Given the description of an element on the screen output the (x, y) to click on. 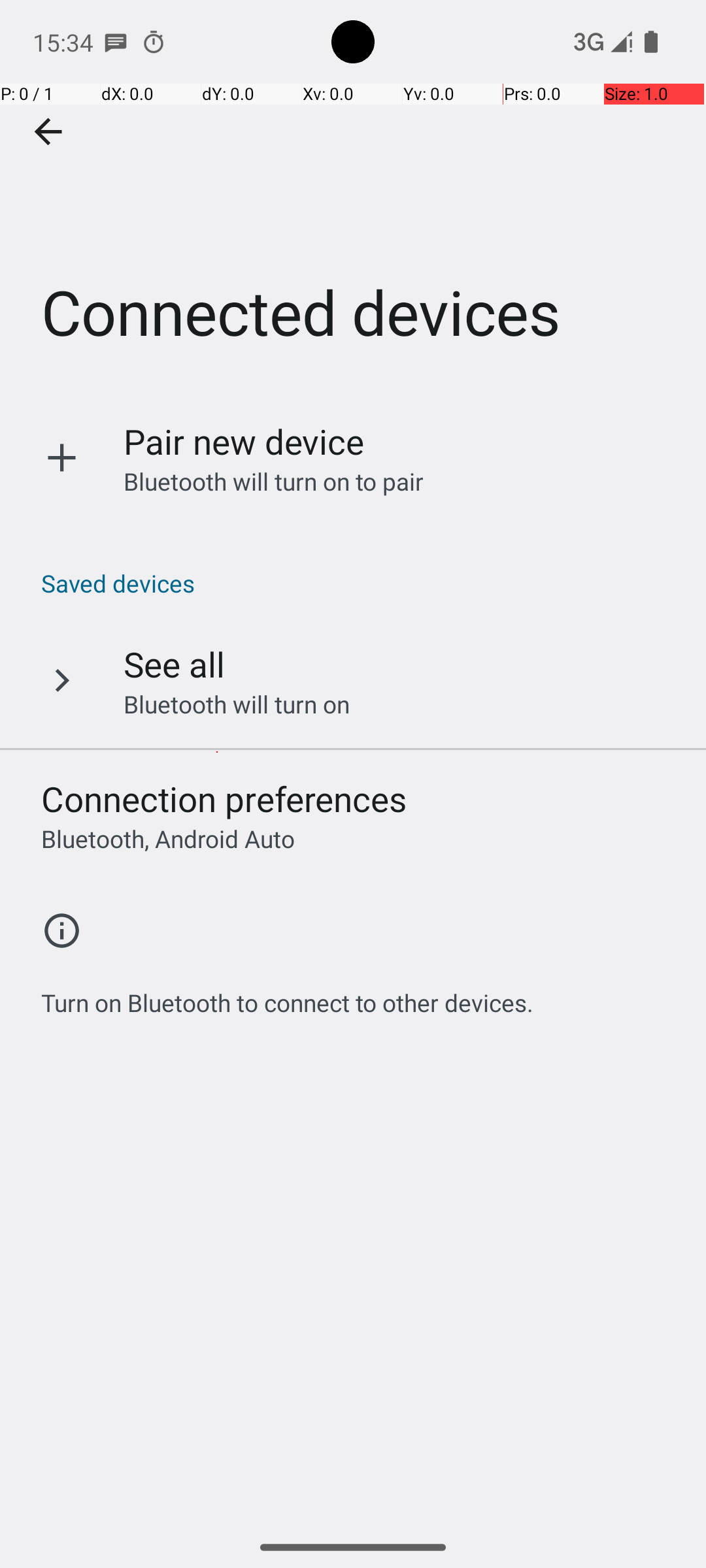
Bluetooth will turn on to pair Element type: android.widget.TextView (273, 480)
Bluetooth will turn on Element type: android.widget.TextView (236, 703)
Turn on Bluetooth to connect to other devices. Element type: android.widget.TextView (287, 995)
